Given the description of an element on the screen output the (x, y) to click on. 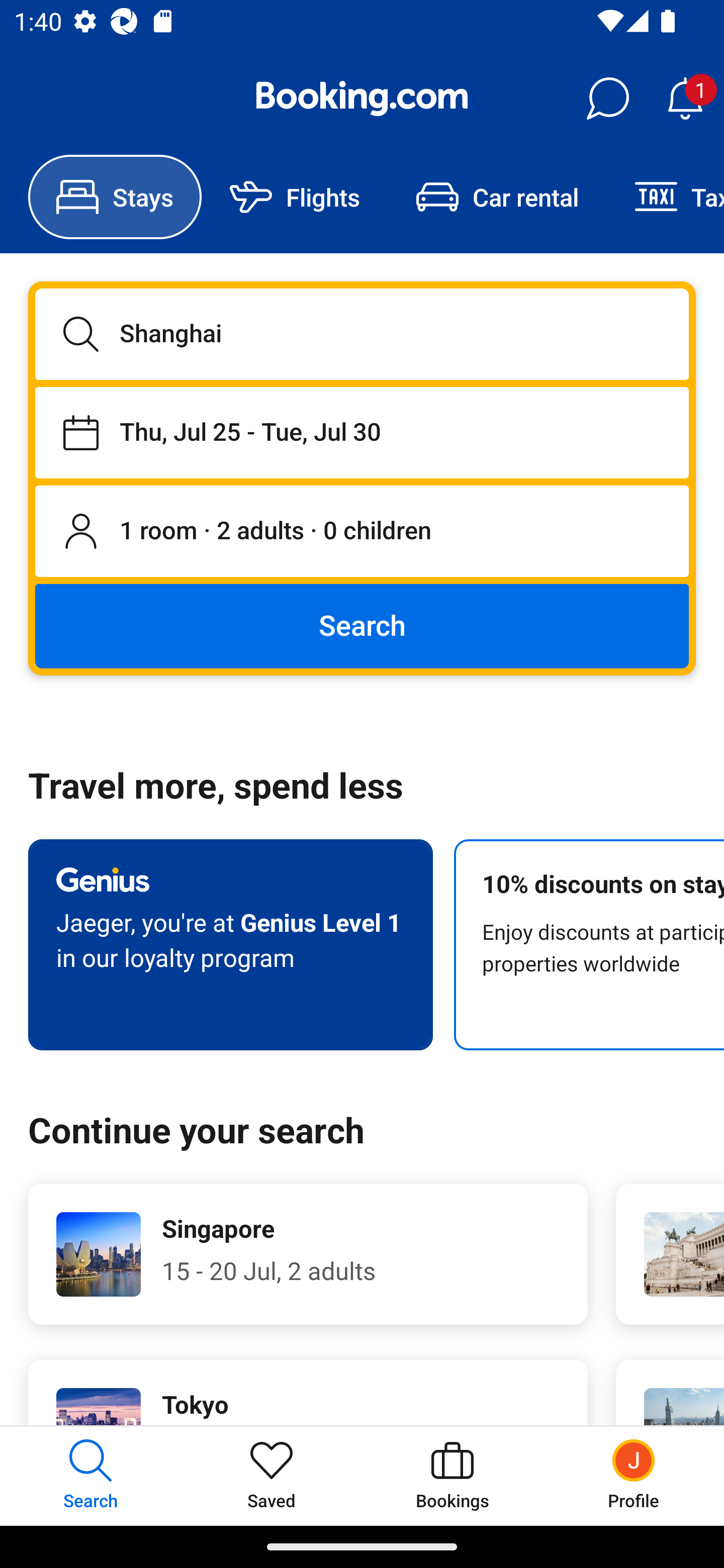
Messages (607, 98)
Notifications (685, 98)
Stays (114, 197)
Flights (294, 197)
Car rental (497, 197)
Taxi (665, 197)
Shanghai (361, 333)
Staying from Thu, Jul 25 until Tue, Jul 30 (361, 432)
1 room, 2 adults, 0 children (361, 531)
Search (361, 625)
Singapore 15 - 20 Jul, 2 adults (307, 1253)
Saved (271, 1475)
Bookings (452, 1475)
Profile (633, 1475)
